Given the description of an element on the screen output the (x, y) to click on. 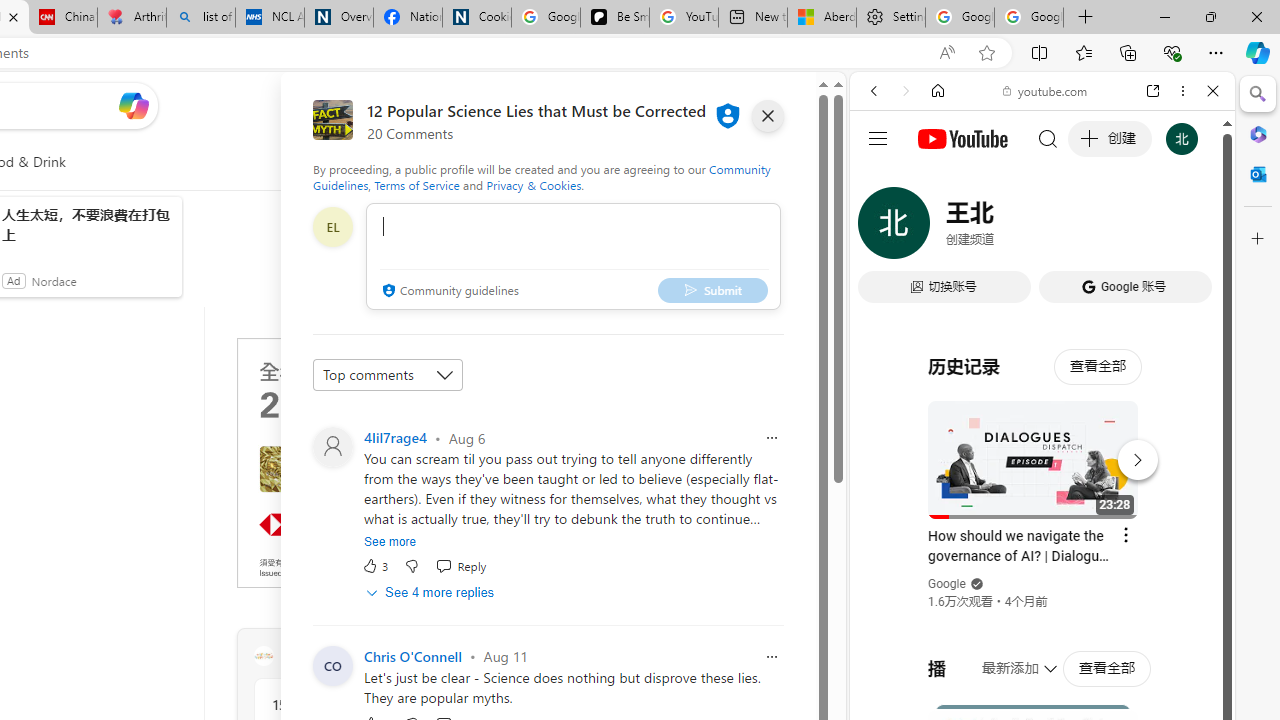
NCL Adult Asthma Inhaler Choice Guideline (269, 17)
youtube.com (1046, 90)
Show More Music (1164, 546)
Aberdeen, Hong Kong SAR hourly forecast | Microsoft Weather (822, 17)
Google (1042, 494)
SEARCH TOOLS (1093, 228)
